Given the description of an element on the screen output the (x, y) to click on. 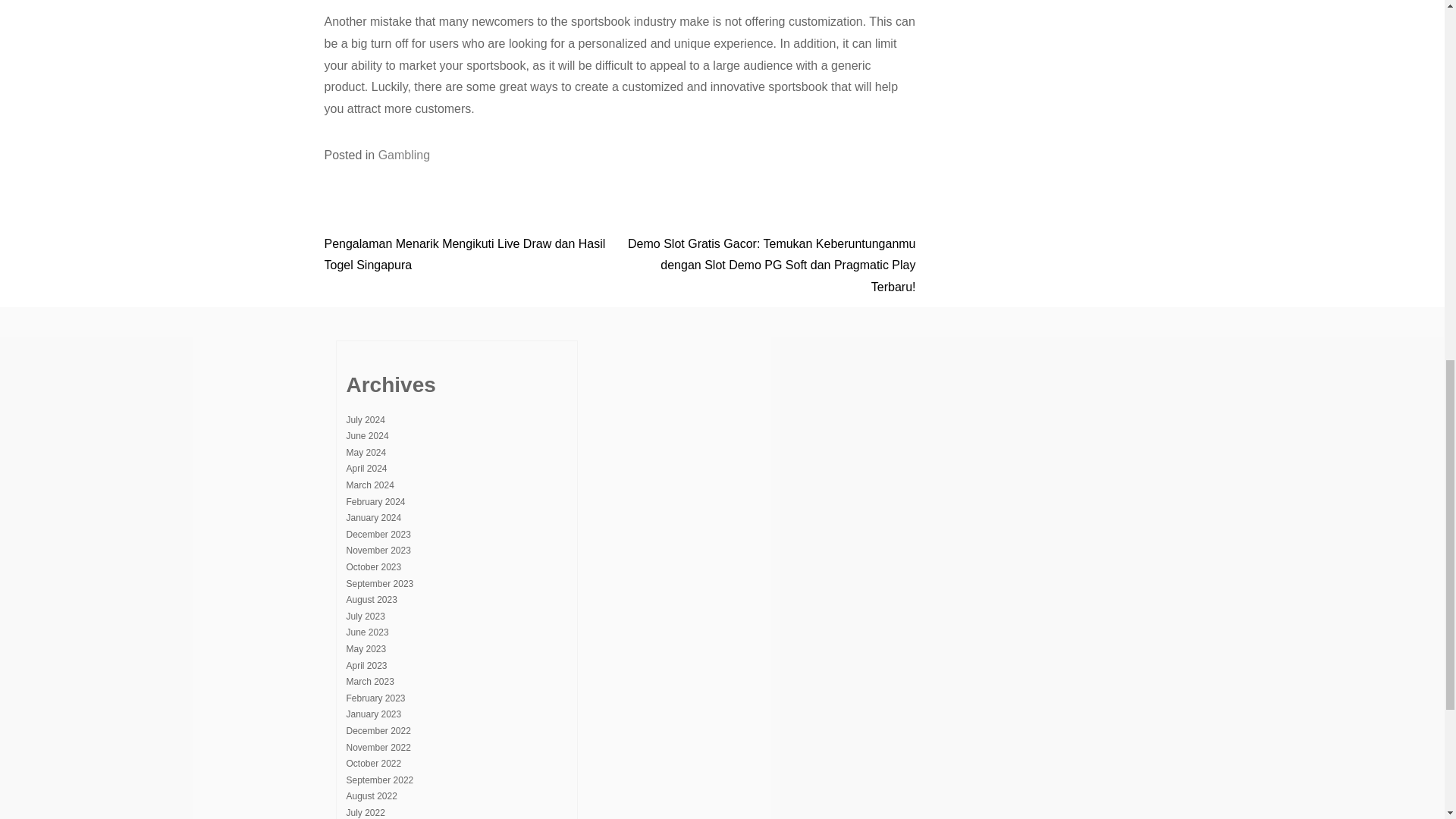
December 2023 (378, 534)
Gambling (403, 154)
March 2024 (369, 484)
April 2024 (366, 468)
March 2023 (369, 681)
September 2023 (379, 583)
February 2023 (375, 697)
April 2023 (366, 665)
November 2022 (378, 747)
October 2023 (373, 566)
February 2024 (375, 501)
January 2024 (373, 517)
October 2022 (373, 763)
November 2023 (378, 550)
